Given the description of an element on the screen output the (x, y) to click on. 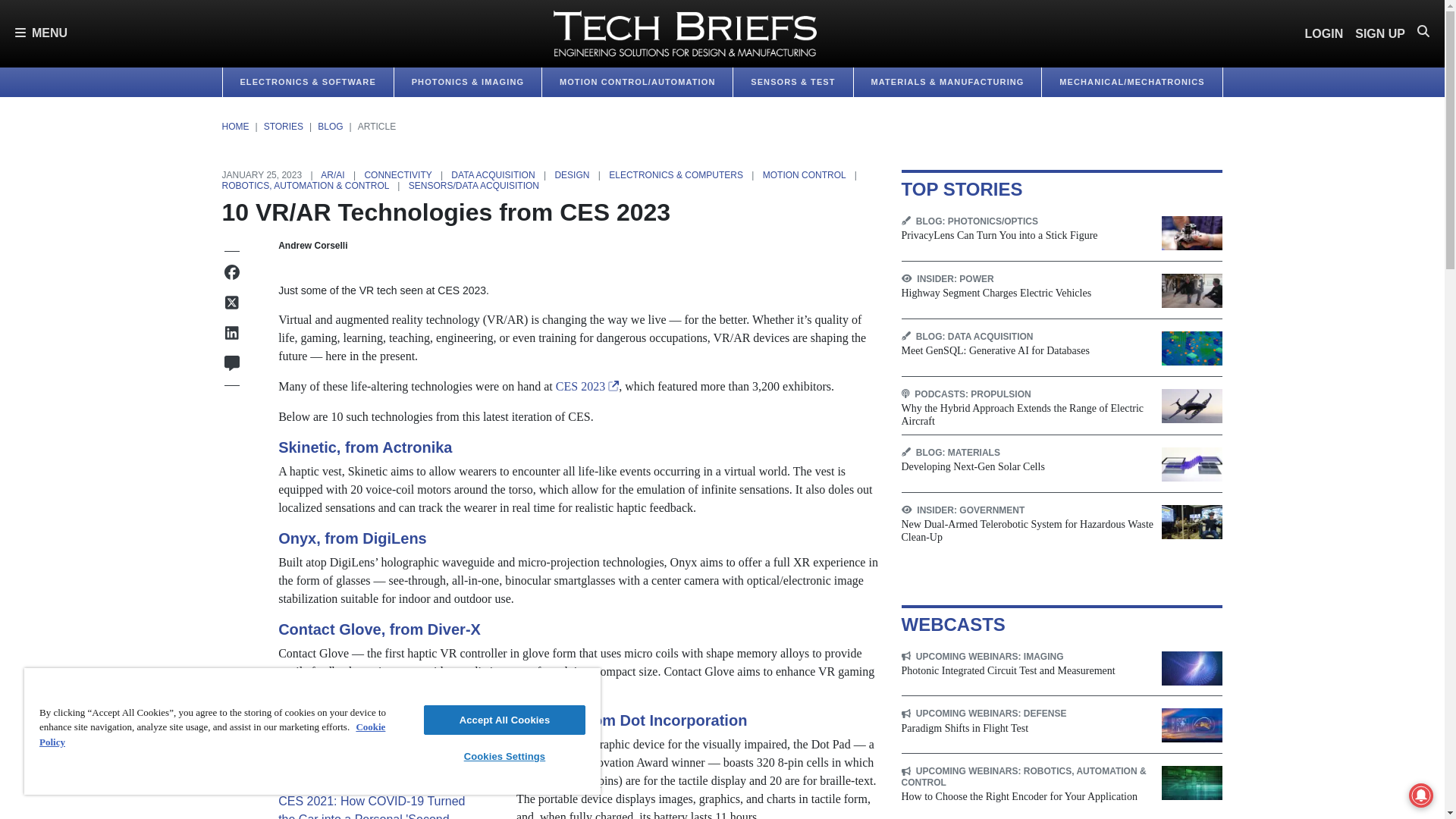
MENU (41, 33)
SIGN UP (1379, 32)
LOGIN (1323, 32)
